Given the description of an element on the screen output the (x, y) to click on. 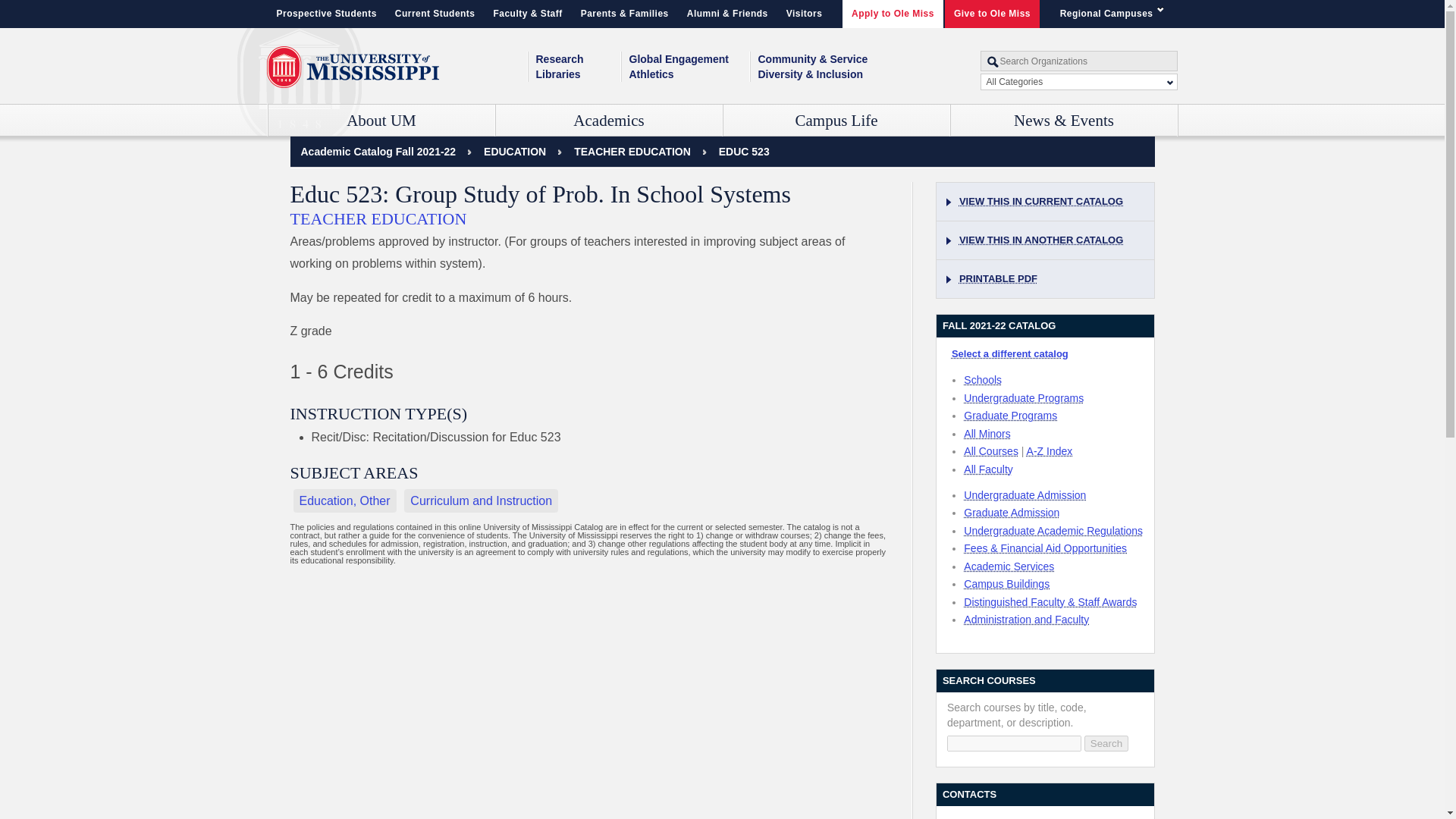
Give to Ole Miss (991, 13)
Apply to Ole Miss (893, 13)
Global Engagement (688, 58)
Teacher Education (631, 151)
Research (577, 58)
Catalog home page (377, 151)
Group Study of Prob. In School Systems (744, 151)
School of Education (514, 151)
Campus Life (836, 120)
Search UM for anything... (1077, 60)
